Given the description of an element on the screen output the (x, y) to click on. 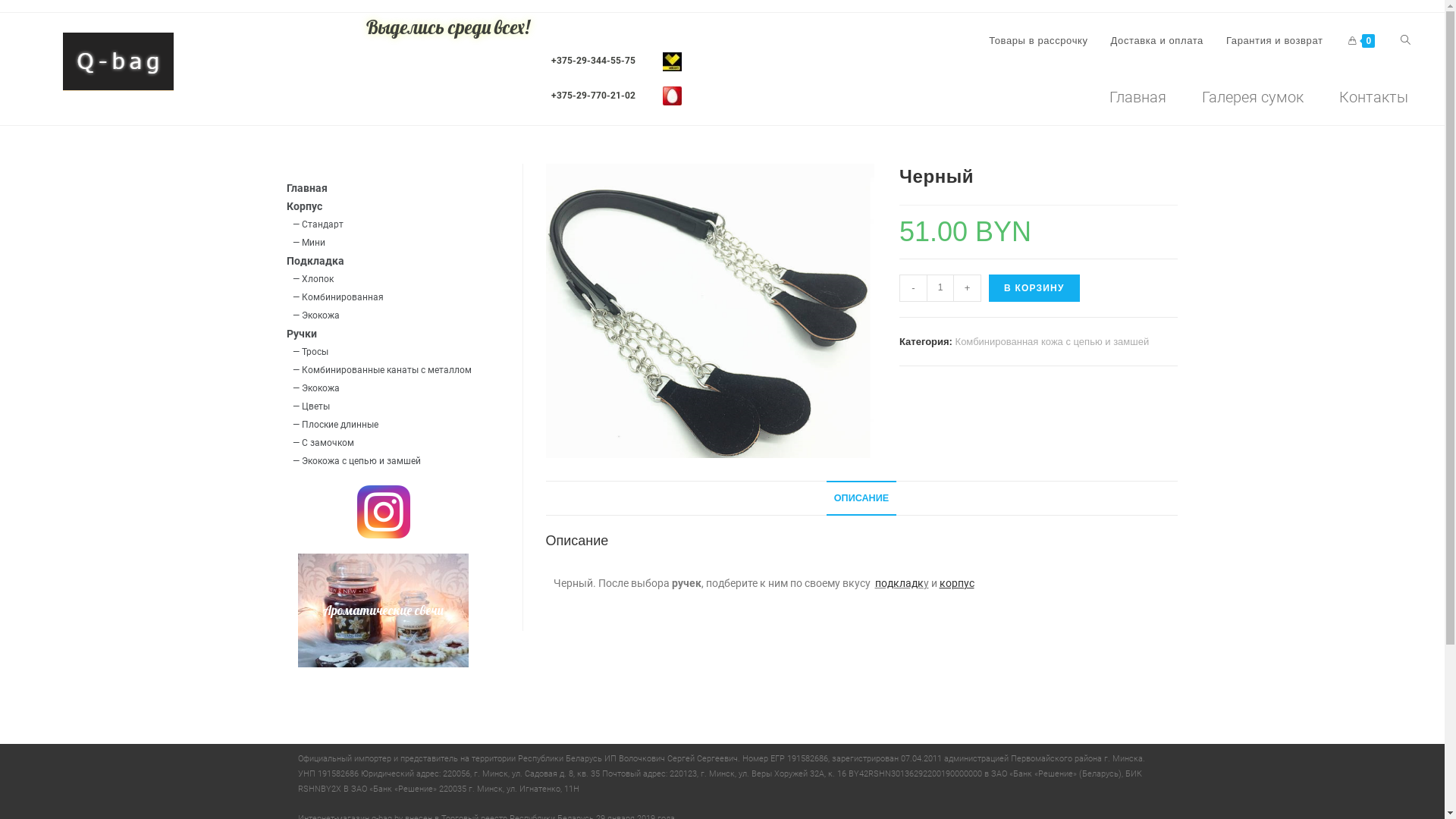
mts-logo Element type: hover (671, 95)
Instagram_AppIcon_Aug2017 Element type: hover (382, 511)
+ Element type: text (967, 287)
+375-29-344-55-75 Element type: text (593, 60)
+375-29-770-21-02 Element type: text (593, 95)
velcom_logo Element type: hover (671, 60)
0 Element type: text (1361, 40)
- Element type: text (912, 287)
koja_tsep_chern Element type: hover (710, 310)
